Given the description of an element on the screen output the (x, y) to click on. 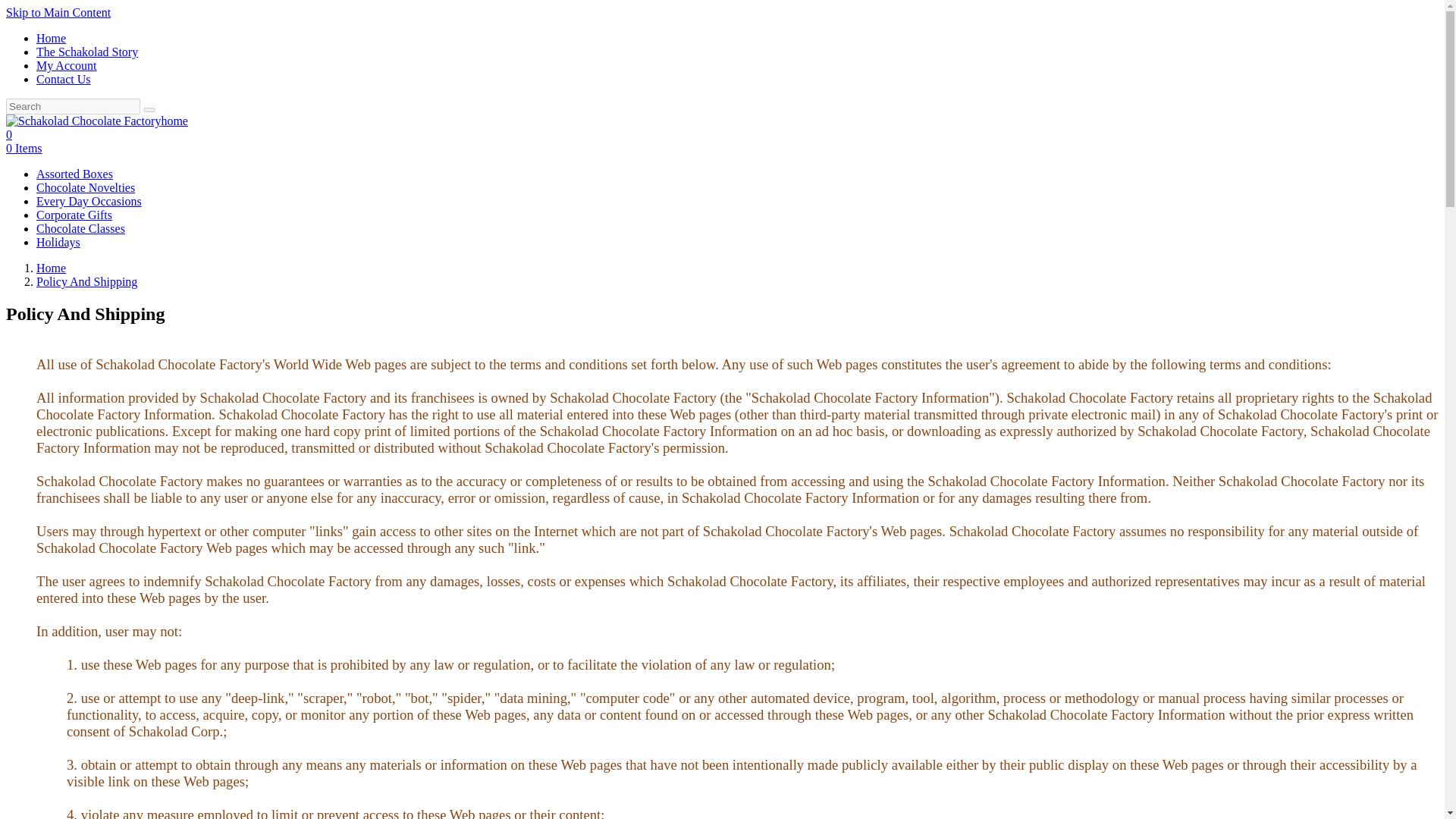
Chocolate Classes (80, 228)
Corporate Gifts (74, 214)
Chocolate Novelties (85, 187)
Home (50, 267)
Skip to Main Content (57, 11)
Policy And Shipping (86, 281)
My Account (66, 65)
Holidays (58, 241)
The Schakolad Story (87, 51)
Assorted Boxes (74, 173)
